Given the description of an element on the screen output the (x, y) to click on. 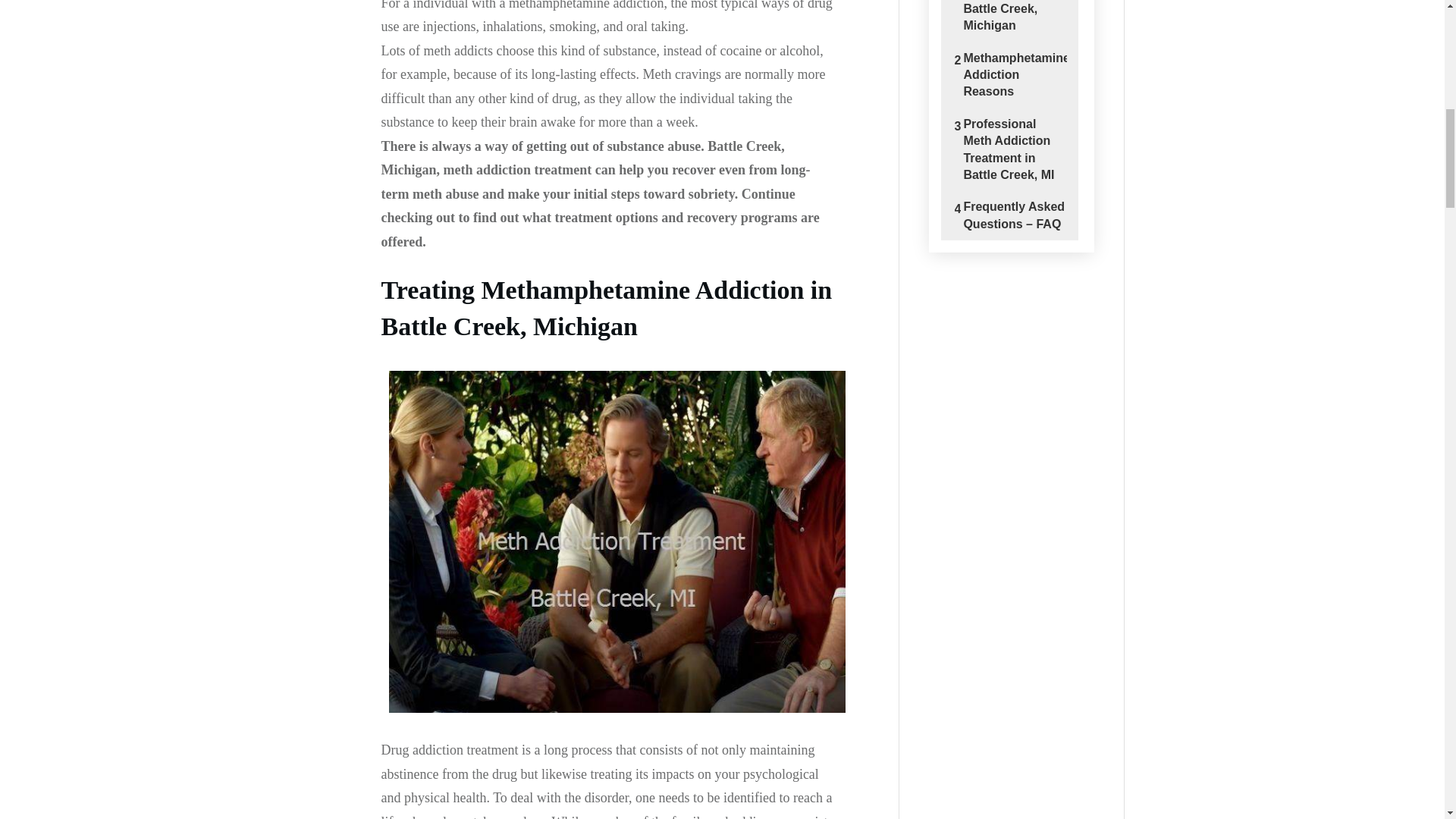
Professional Meth Addiction Treatment in Battle Creek, MI (1013, 150)
Methamphetamine Addiction Reasons (1013, 74)
Treating Methamphetamine Addiction in Battle Creek, Michigan (1013, 17)
Methamphetamine Addiction Reasons (1013, 74)
Treating Methamphetamine Addiction in Battle Creek, Michigan (1013, 17)
